Given the description of an element on the screen output the (x, y) to click on. 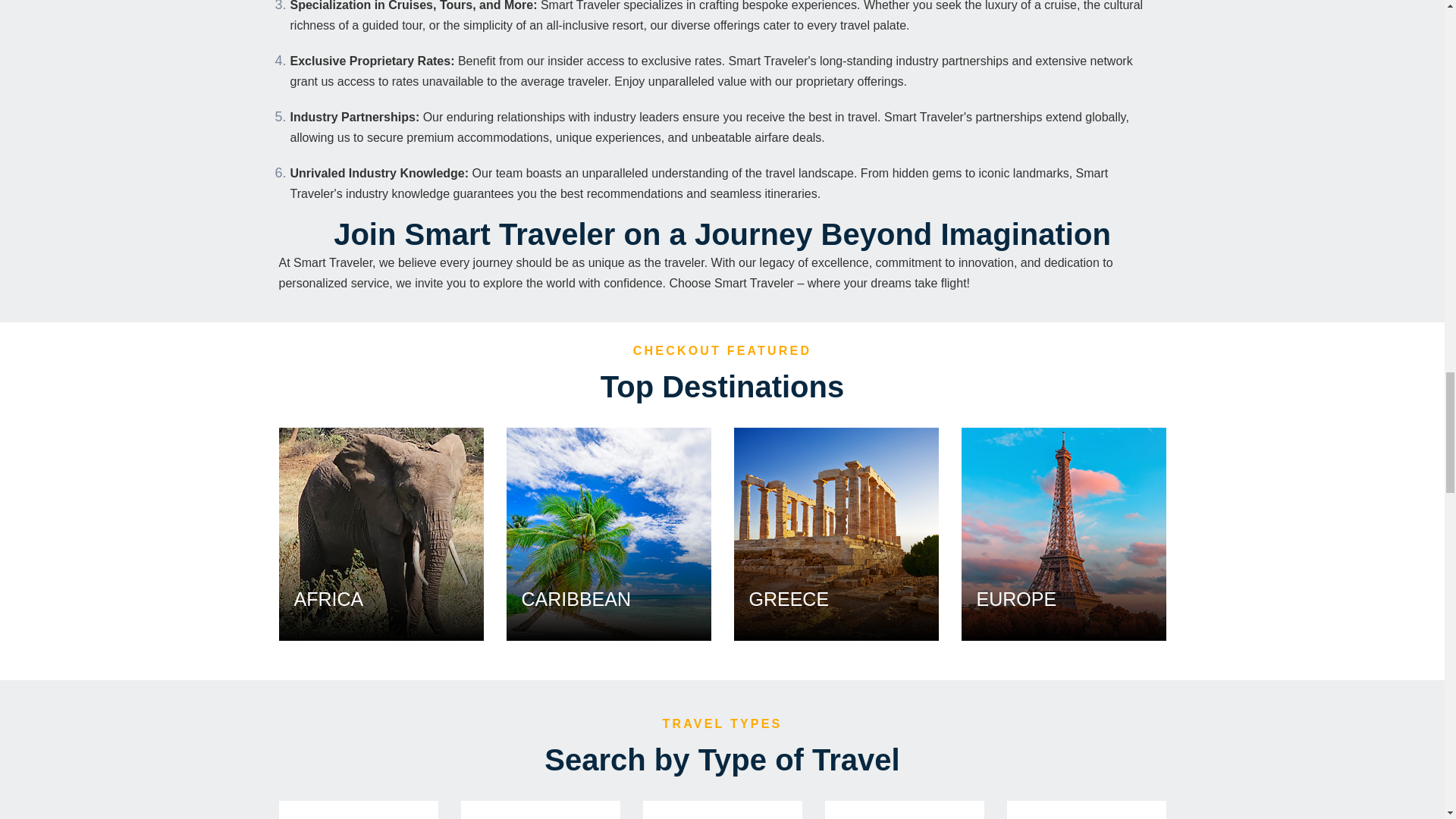
Cruises Only (358, 809)
EUROPE (1063, 532)
Caribbean Travel Deals (608, 533)
GREECE (836, 532)
Hotels (1086, 809)
Greece Travel Deals (836, 533)
Resorts (904, 809)
Europe Travel Deals (1063, 533)
AFRICA (381, 532)
Vacation Packages (540, 809)
